Given the description of an element on the screen output the (x, y) to click on. 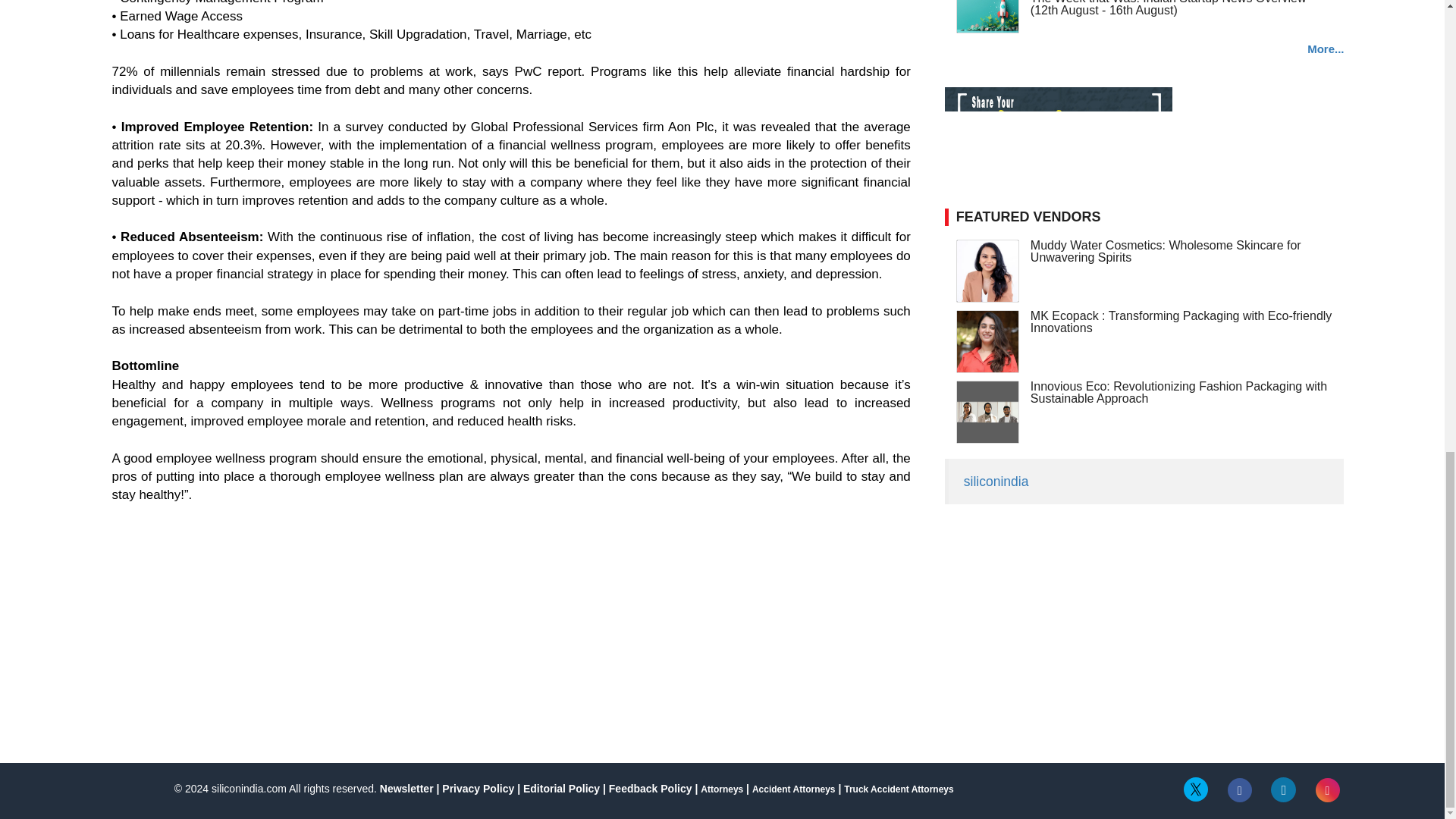
Advertisement (785, 644)
